Given the description of an element on the screen output the (x, y) to click on. 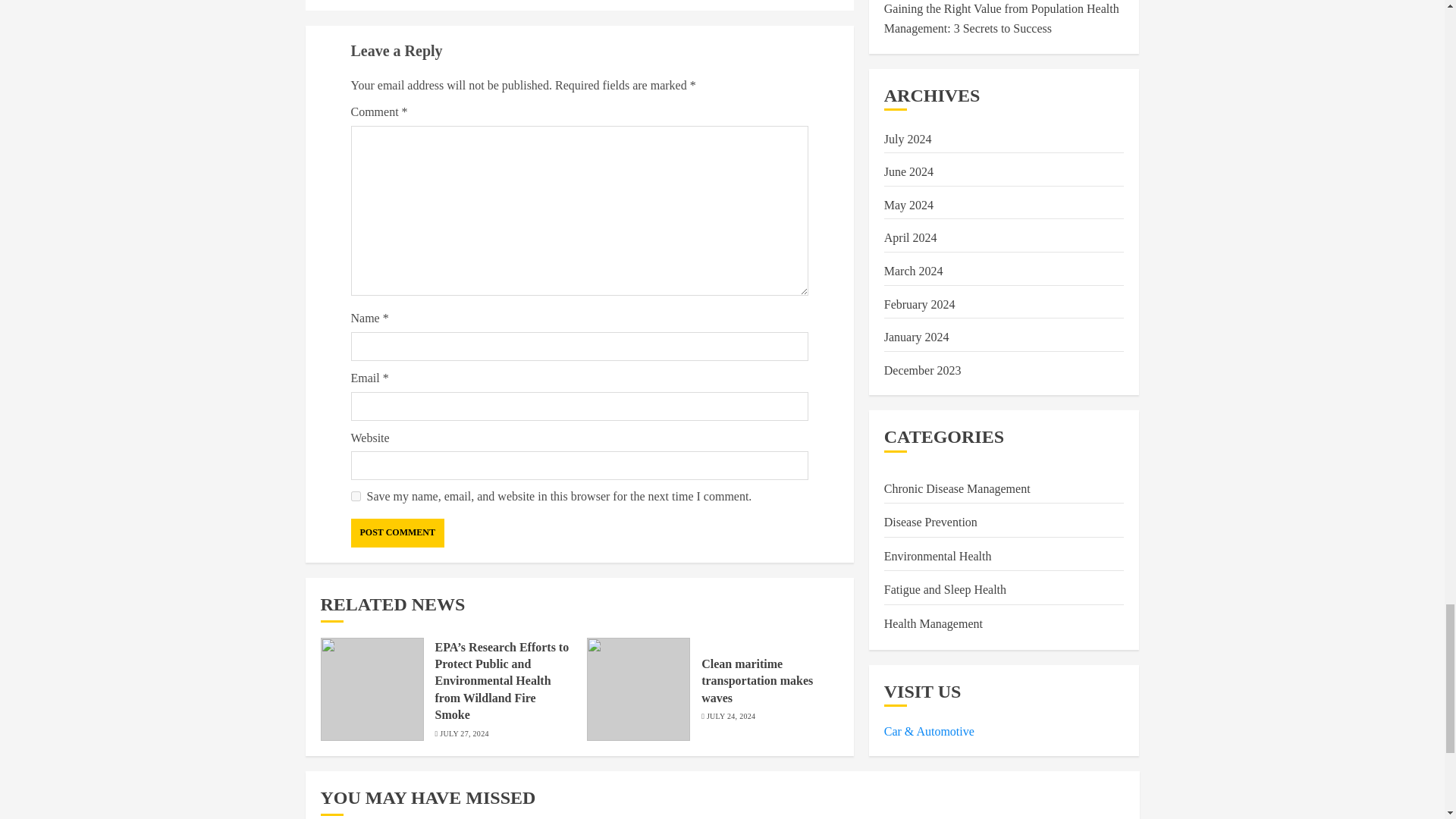
Post Comment (397, 532)
yes (354, 496)
Post Comment (397, 532)
